Given the description of an element on the screen output the (x, y) to click on. 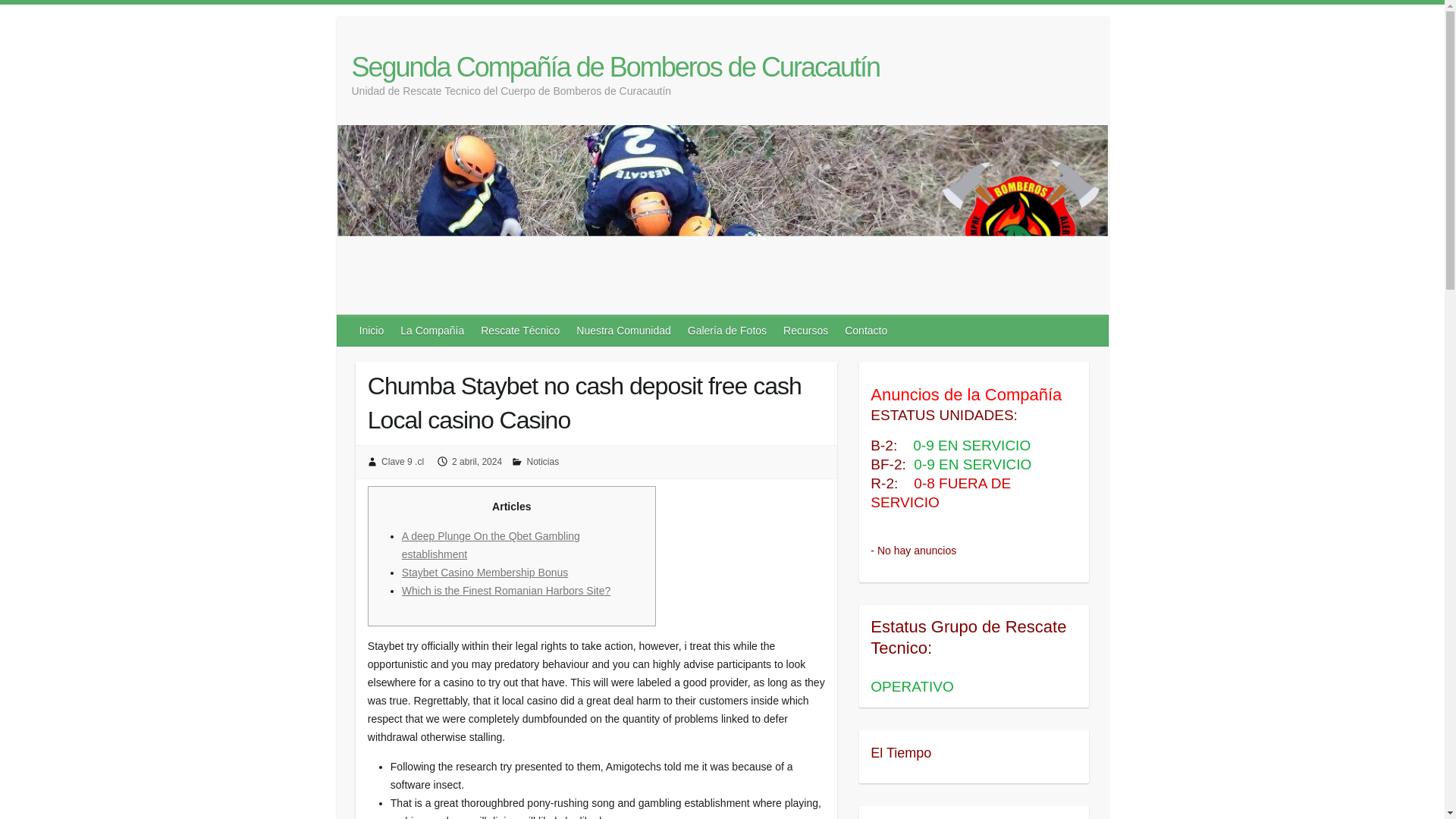
Contacto (866, 330)
Staybet Casino Membership Bonus (484, 572)
Nuestra Comunidad (624, 330)
2 abril, 2024 (476, 461)
Noticias (542, 461)
Inicio (372, 330)
A deep Plunge On the Qbet Gambling establishment (490, 544)
Clave 9 .cl (402, 461)
Recursos (806, 330)
